Given the description of an element on the screen output the (x, y) to click on. 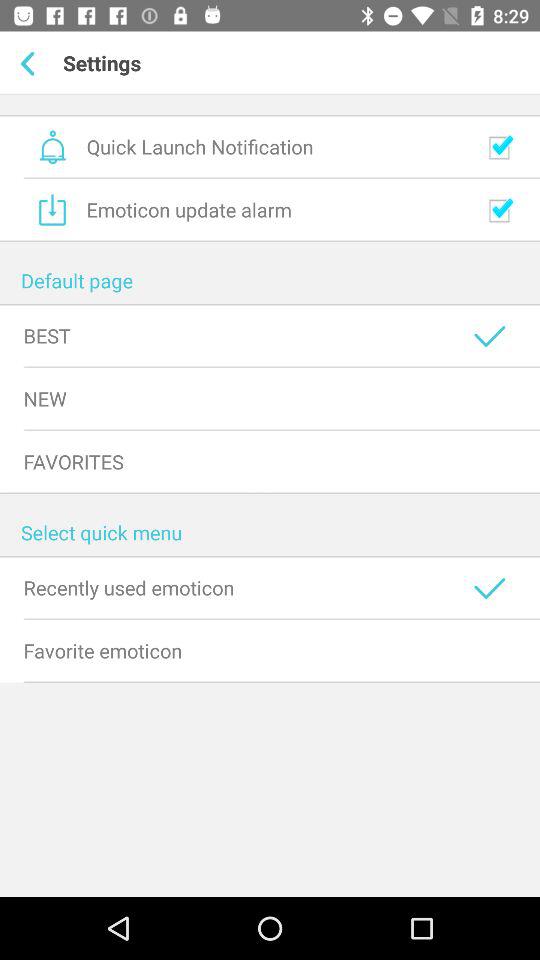
go back (31, 63)
